Given the description of an element on the screen output the (x, y) to click on. 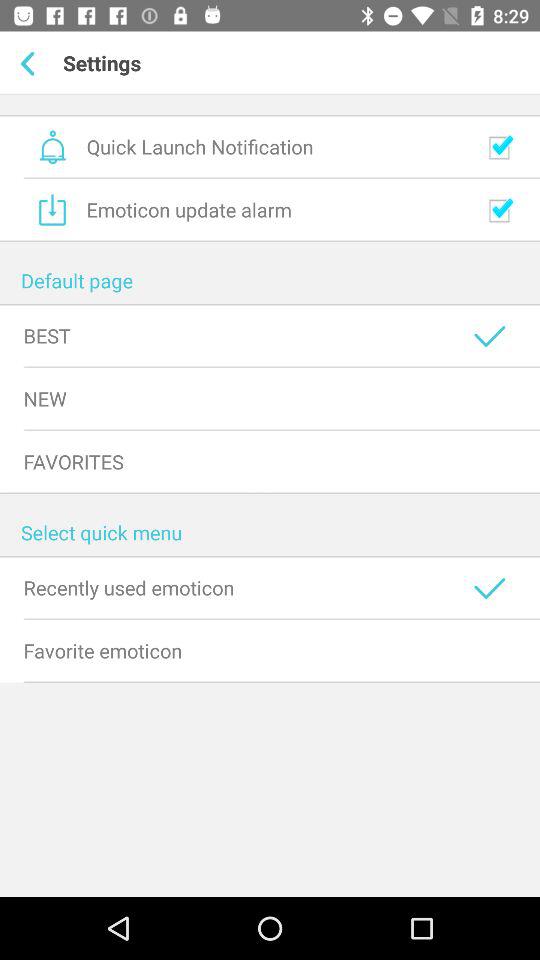
go back (31, 63)
